Given the description of an element on the screen output the (x, y) to click on. 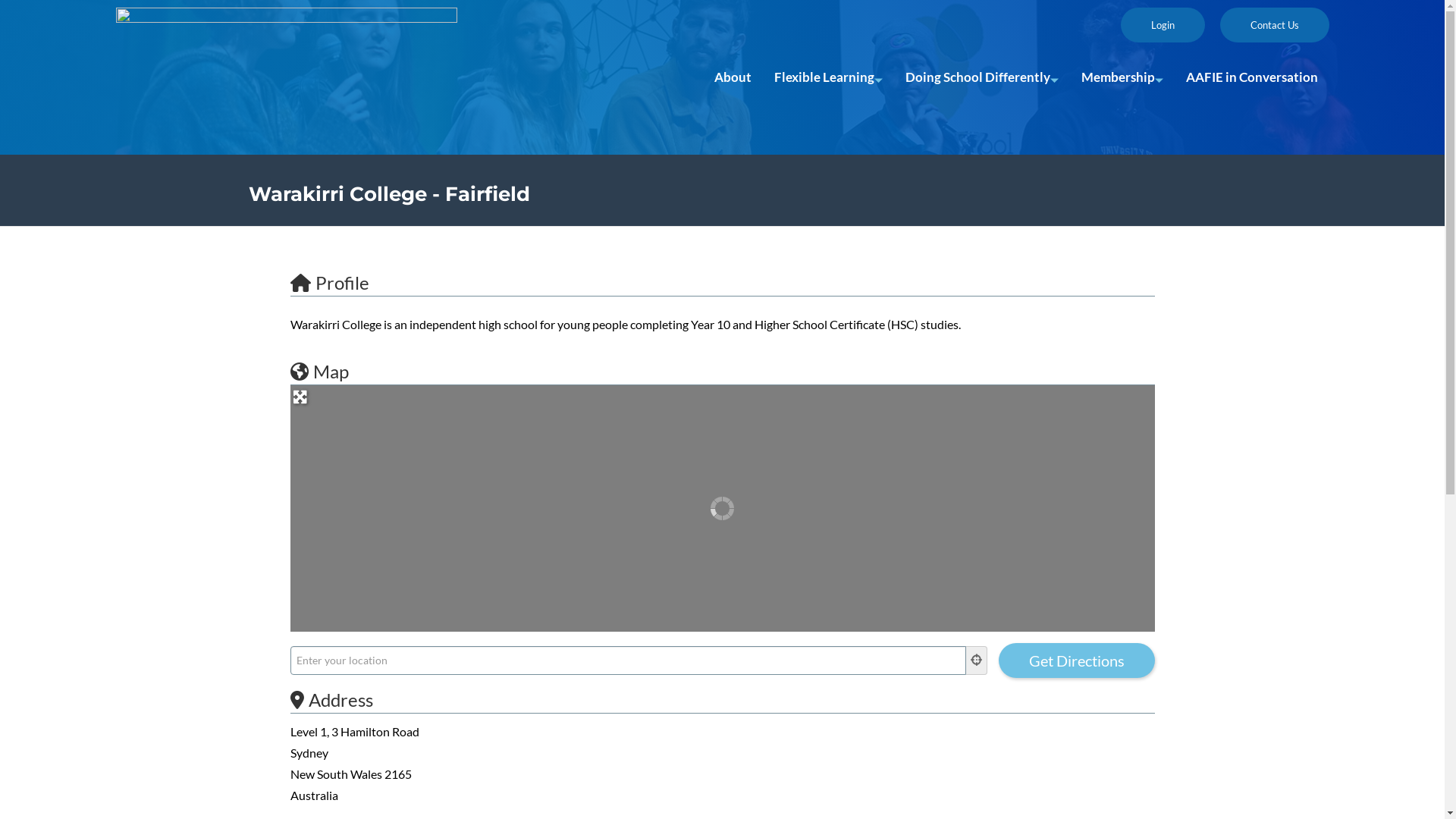
My location Element type: hover (976, 660)
Login Element type: text (1162, 24)
Profile Element type: text (328, 282)
Map Element type: text (318, 371)
AAFIE in Conversation Element type: text (1250, 77)
About Element type: text (732, 77)
Contact Us Element type: text (1273, 24)
Doing School Differently Element type: text (981, 77)
Get Directions Element type: text (1075, 660)
Flexible Learning Element type: text (828, 77)
Address Element type: text (330, 699)
Membership Element type: text (1121, 77)
